Given the description of an element on the screen output the (x, y) to click on. 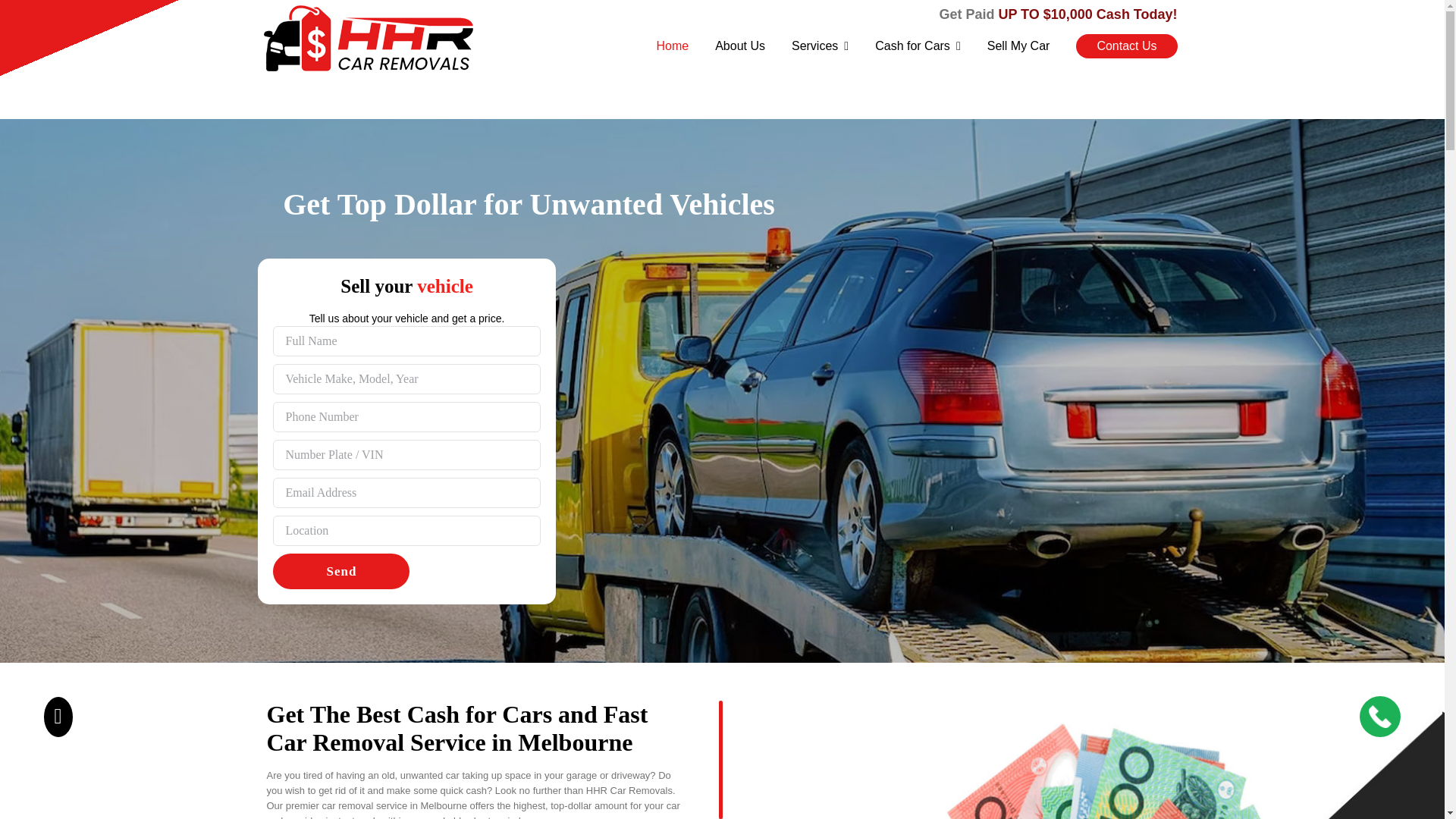
Send (341, 570)
Send (341, 570)
Sell My Car (1018, 46)
Cash for Cars (917, 46)
Contact Us (1125, 46)
About Us (739, 46)
Services (820, 46)
